Given the description of an element on the screen output the (x, y) to click on. 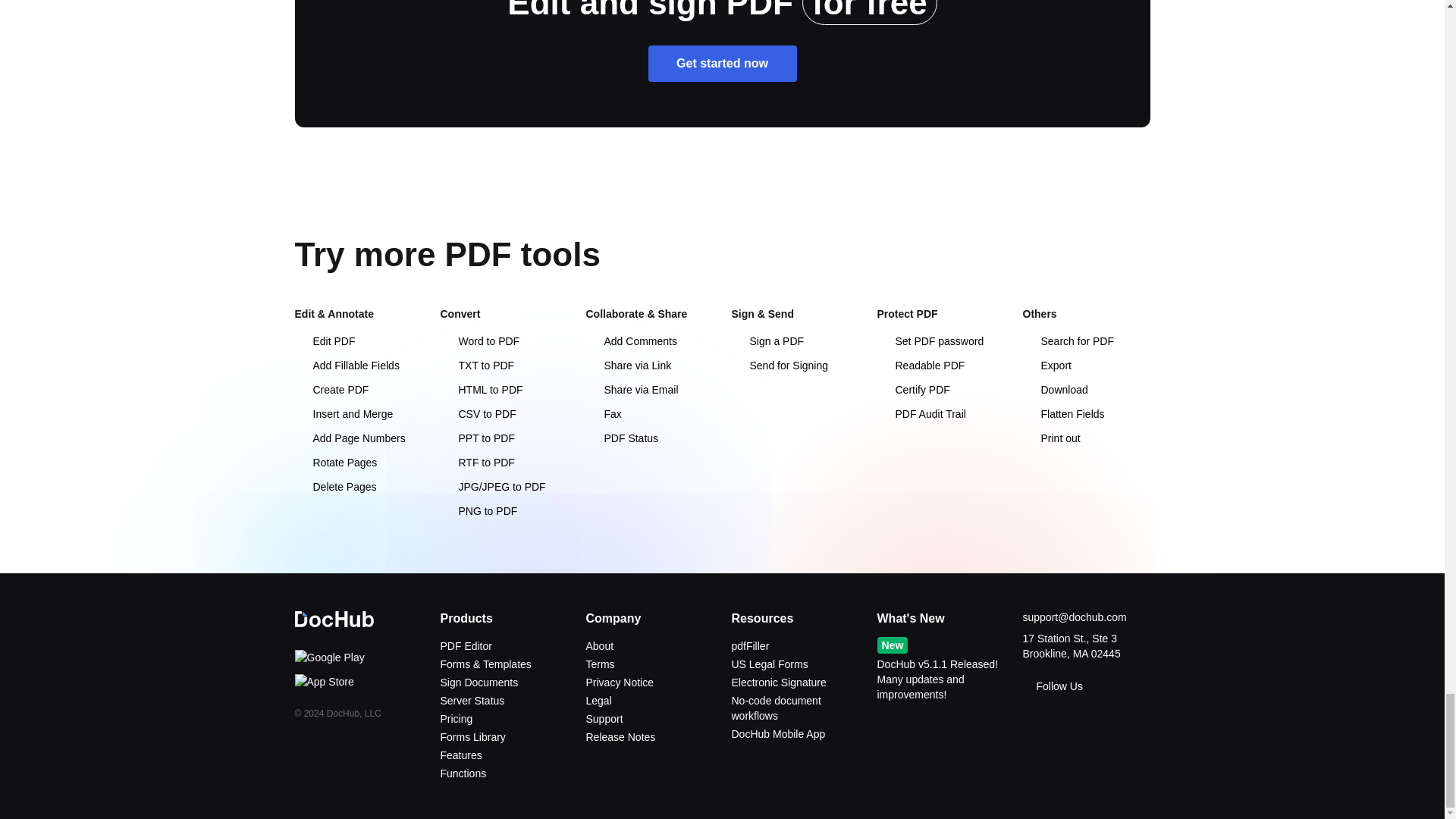
Get started now (721, 63)
HTML to PDF (480, 389)
Delete Pages (334, 486)
TXT to PDF (476, 365)
CSV to PDF (477, 413)
Edit PDF (324, 340)
PDF Status (621, 438)
PPT to PDF (476, 438)
Share via Link (628, 365)
Share via Email (631, 389)
Fax (603, 413)
Create PDF (331, 389)
Word to PDF (479, 340)
RTF to PDF (476, 462)
Insert and Merge (343, 413)
